Given the description of an element on the screen output the (x, y) to click on. 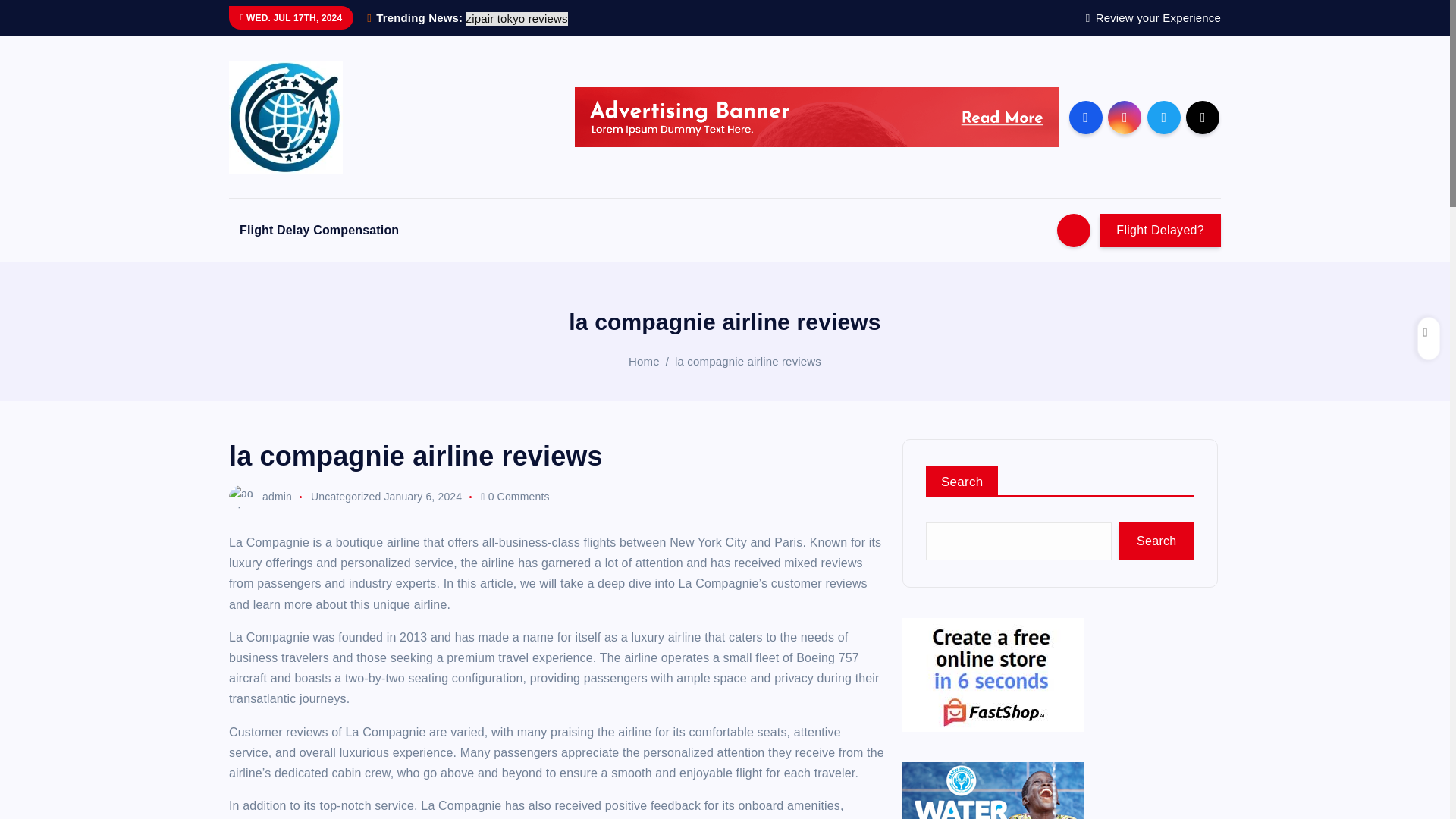
Home (643, 360)
la compagnie airline reviews (748, 360)
Flight Delay Compensation (318, 230)
Flight Delayed? (1160, 230)
admin (260, 496)
Flight Delay Compensation (318, 230)
Search (1156, 541)
Uncategorized (345, 496)
